Given the description of an element on the screen output the (x, y) to click on. 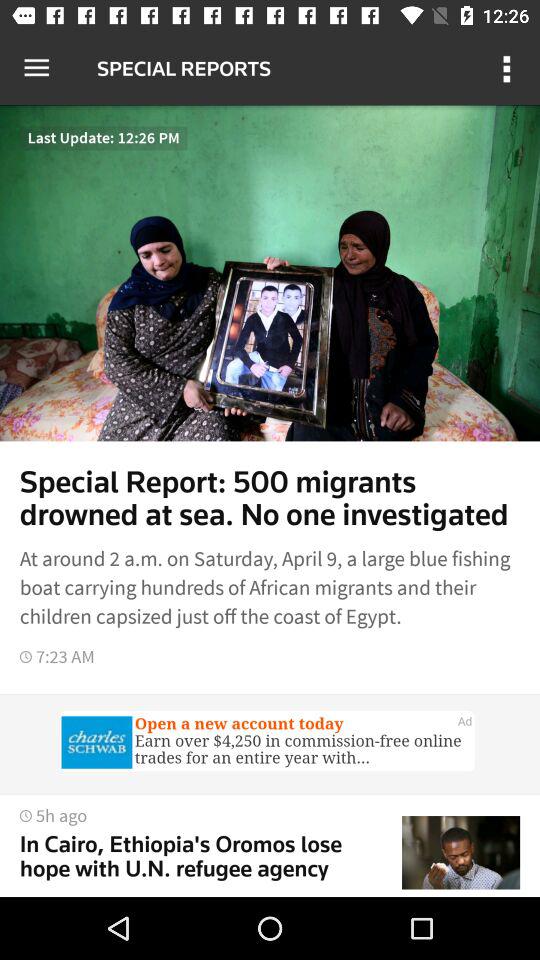
advertisement (270, 743)
